Given the description of an element on the screen output the (x, y) to click on. 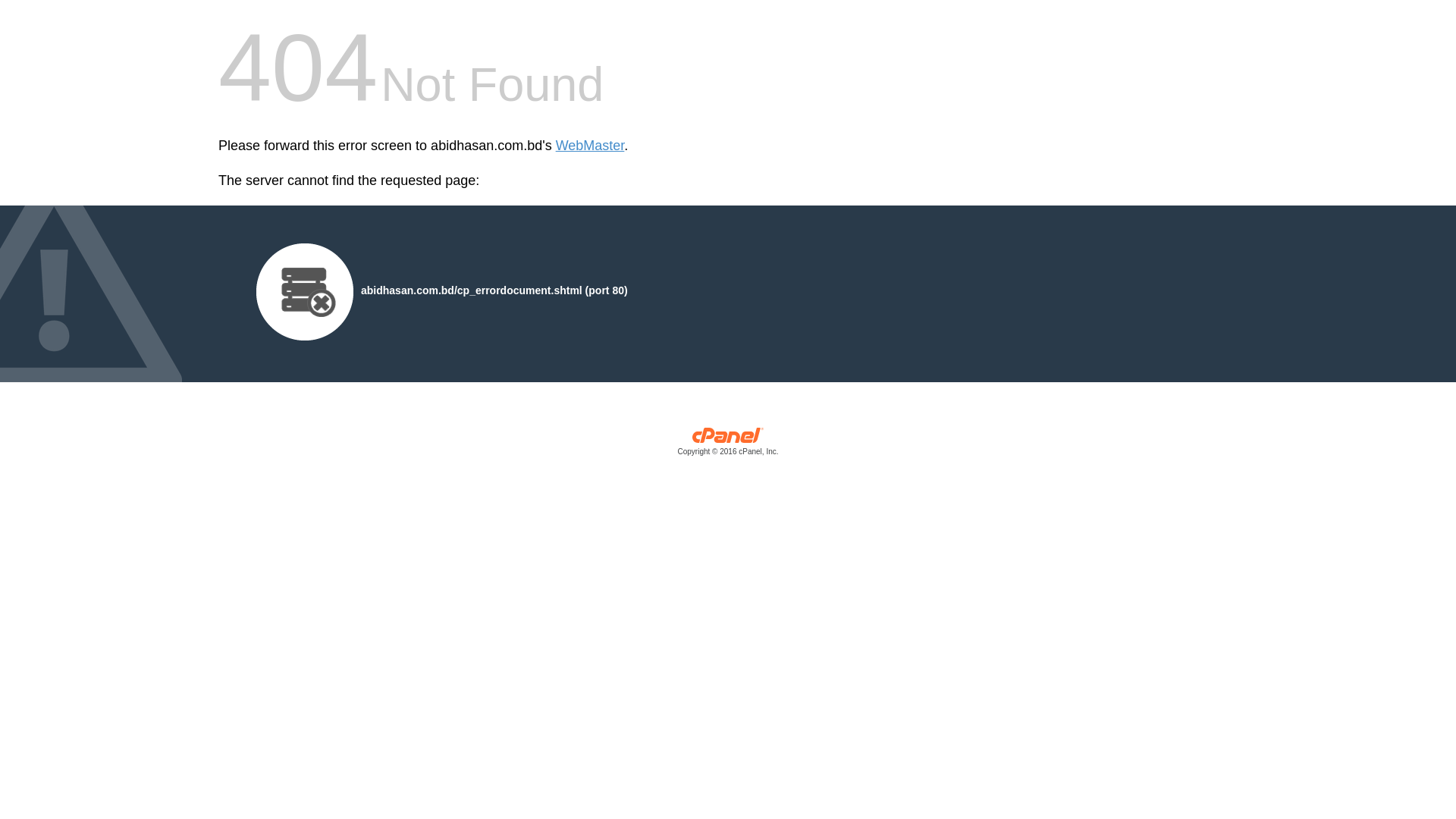
WebMaster Element type: text (589, 145)
